Given the description of an element on the screen output the (x, y) to click on. 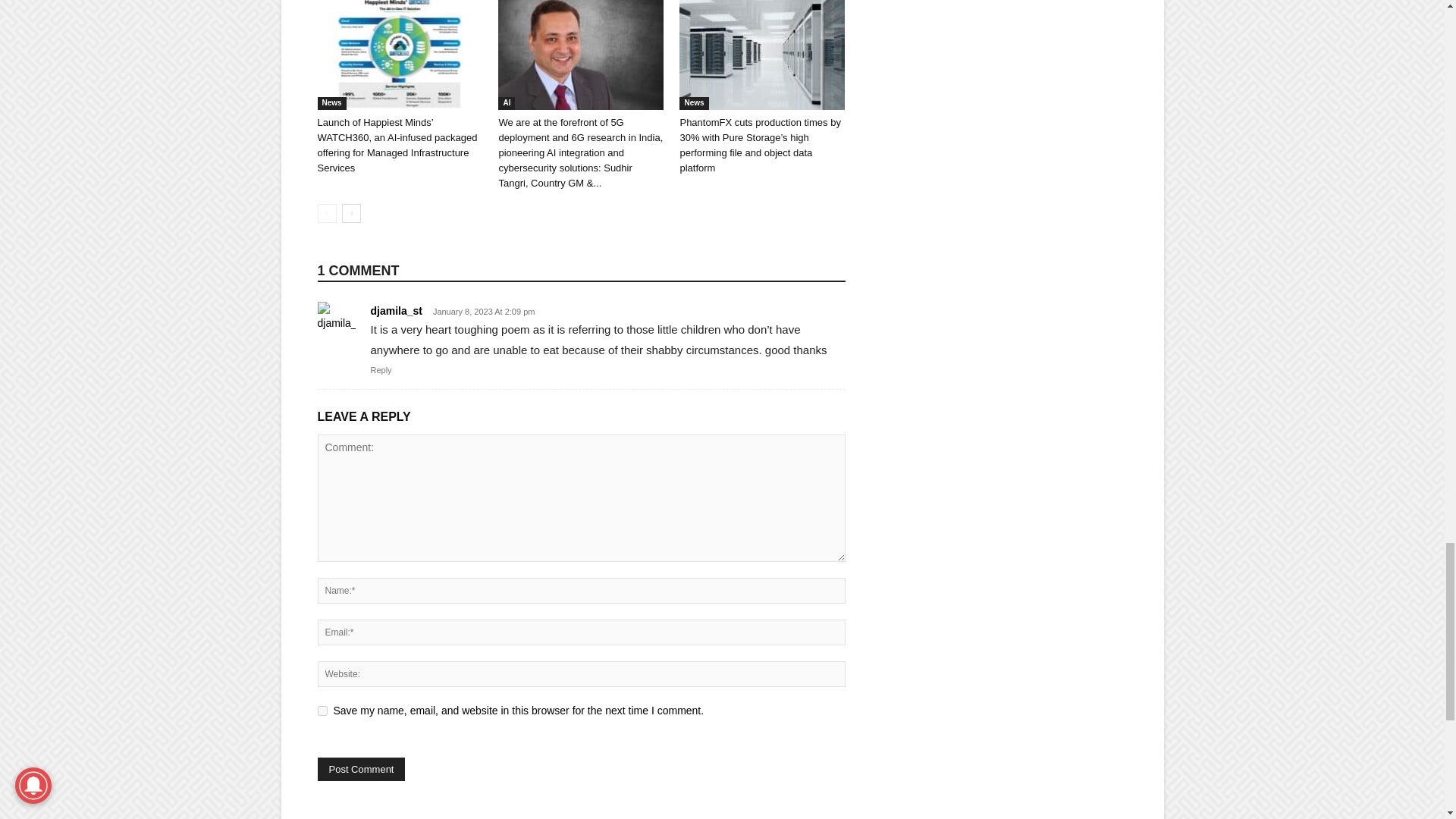
Post Comment (360, 769)
yes (321, 710)
